Given the description of an element on the screen output the (x, y) to click on. 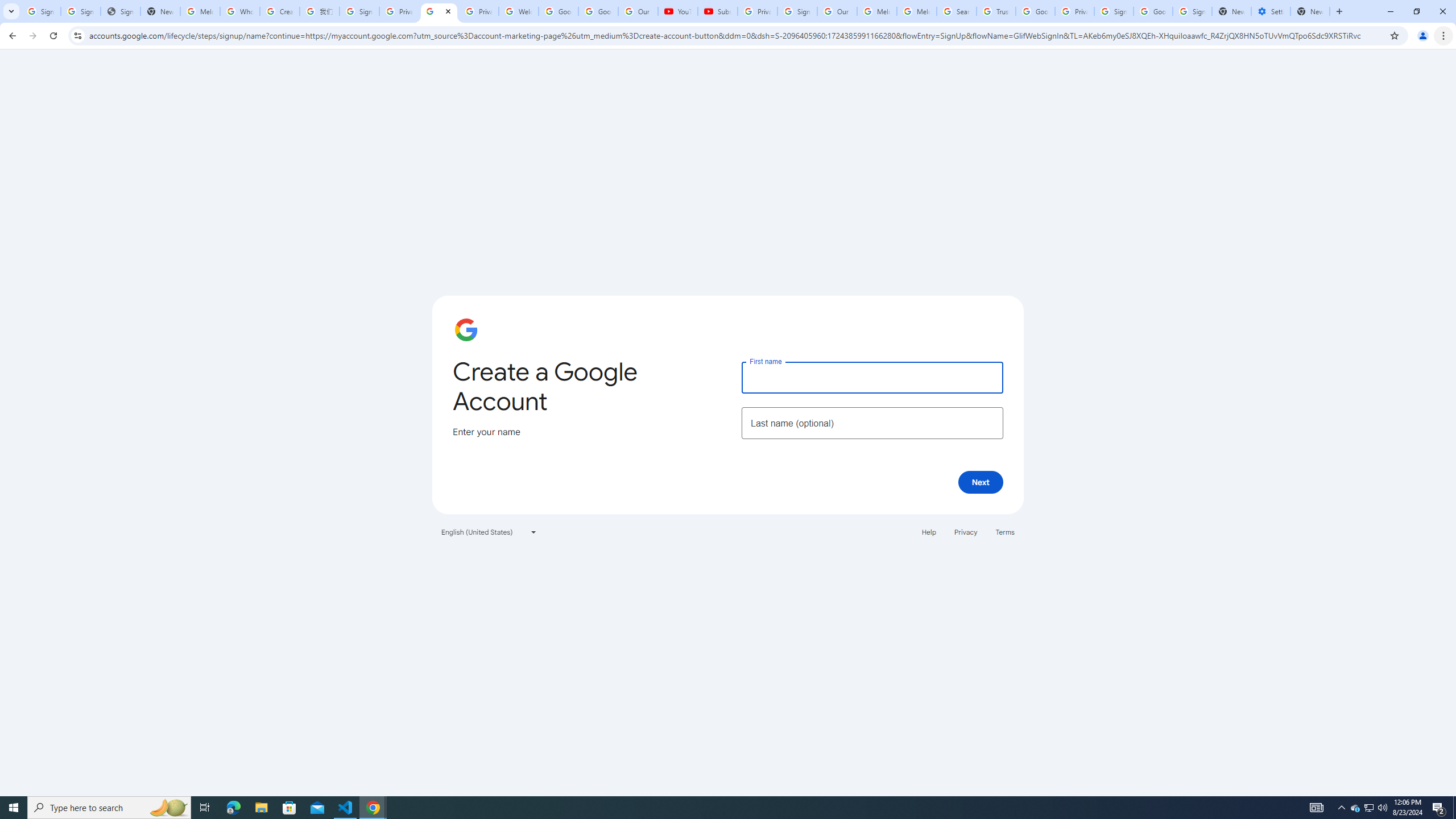
Privacy (965, 531)
New Tab (1310, 11)
Search our Doodle Library Collection - Google Doodles (956, 11)
First name (871, 376)
You (1422, 35)
Settings - Addresses and more (1270, 11)
YouTube (677, 11)
Next (980, 481)
